Given the description of an element on the screen output the (x, y) to click on. 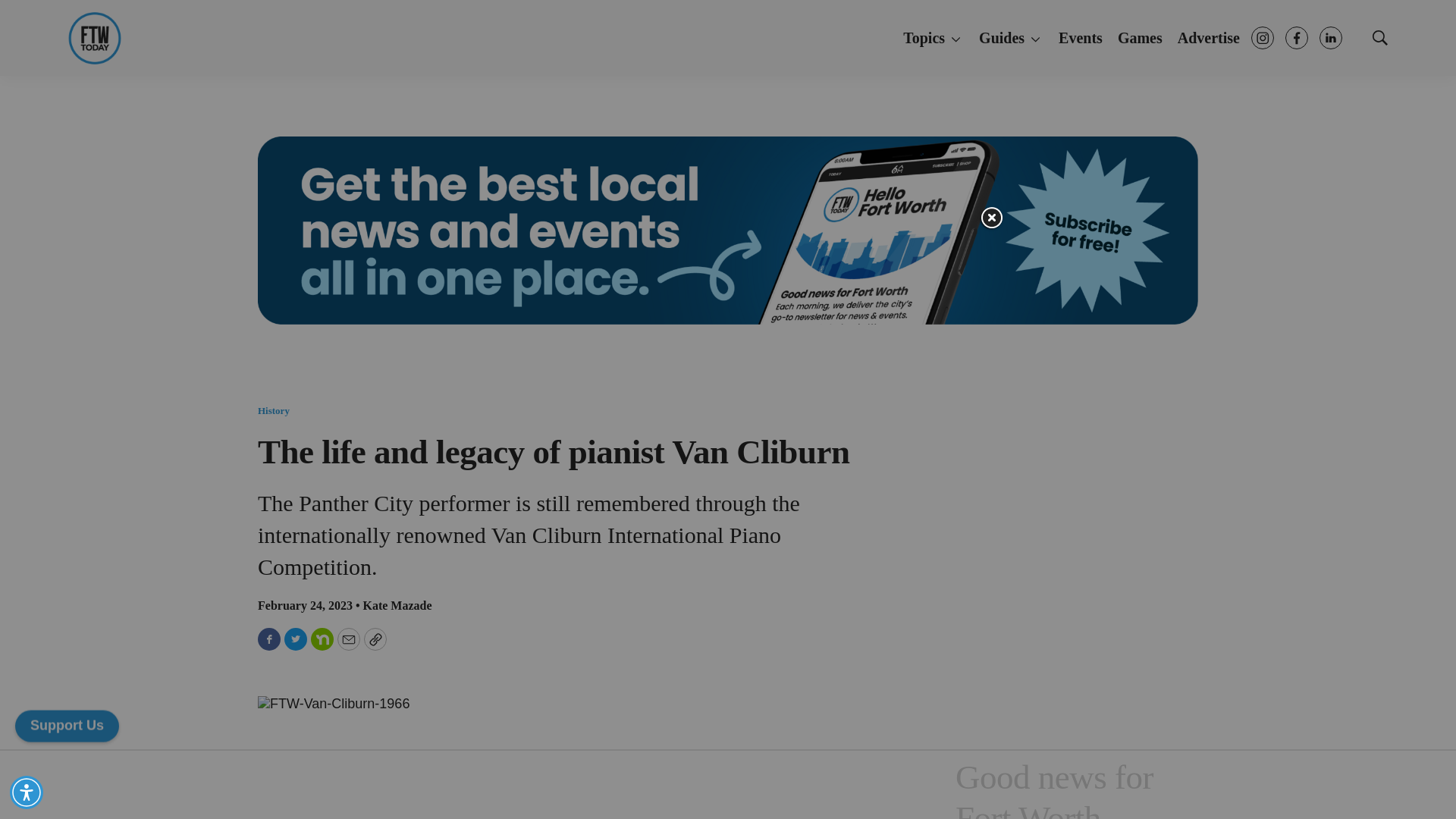
Guides (1010, 39)
Close (990, 217)
Accessibility Menu (26, 792)
Add (66, 725)
